Given the description of an element on the screen output the (x, y) to click on. 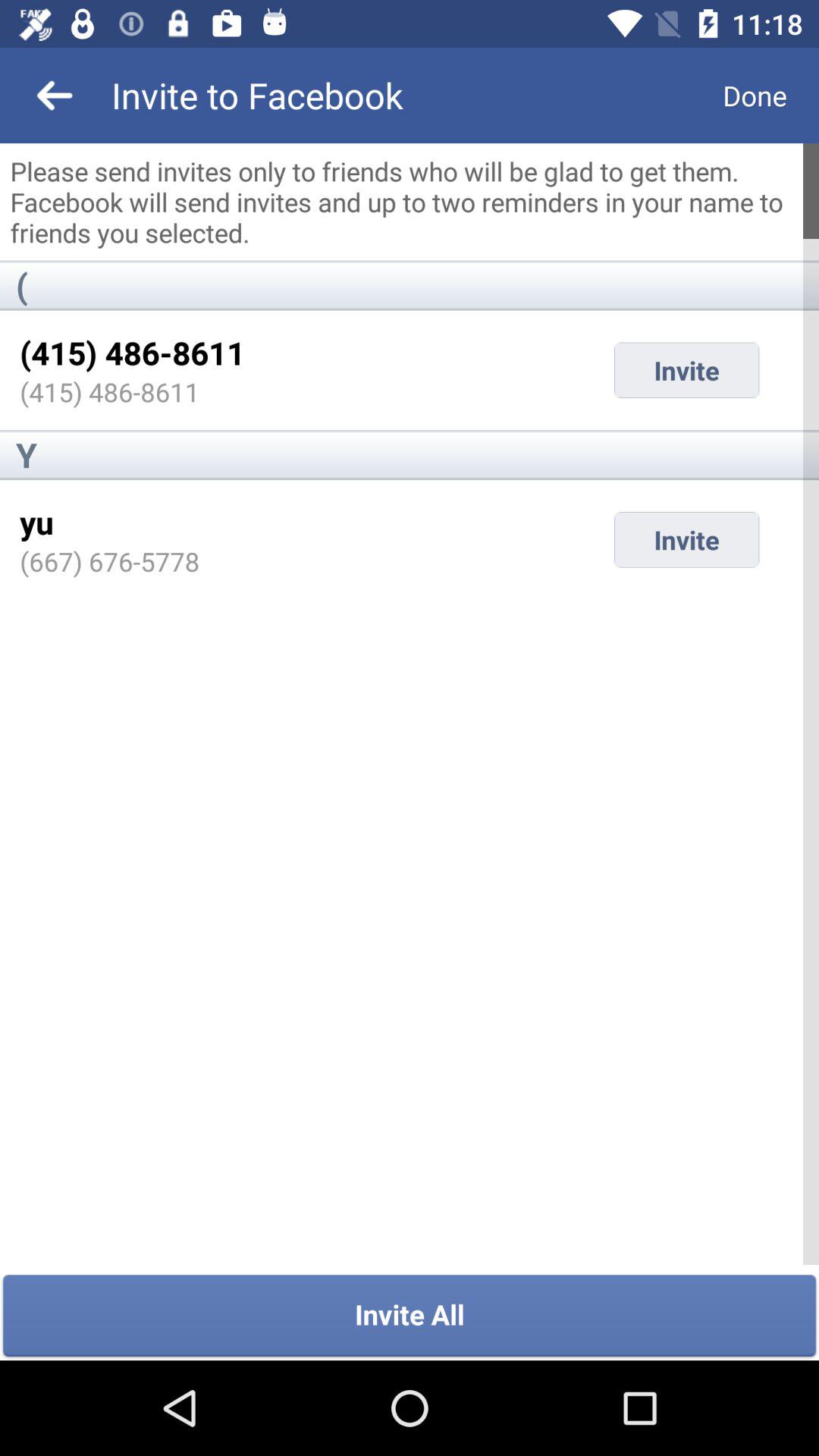
launch item next to invite icon (36, 521)
